Given the description of an element on the screen output the (x, y) to click on. 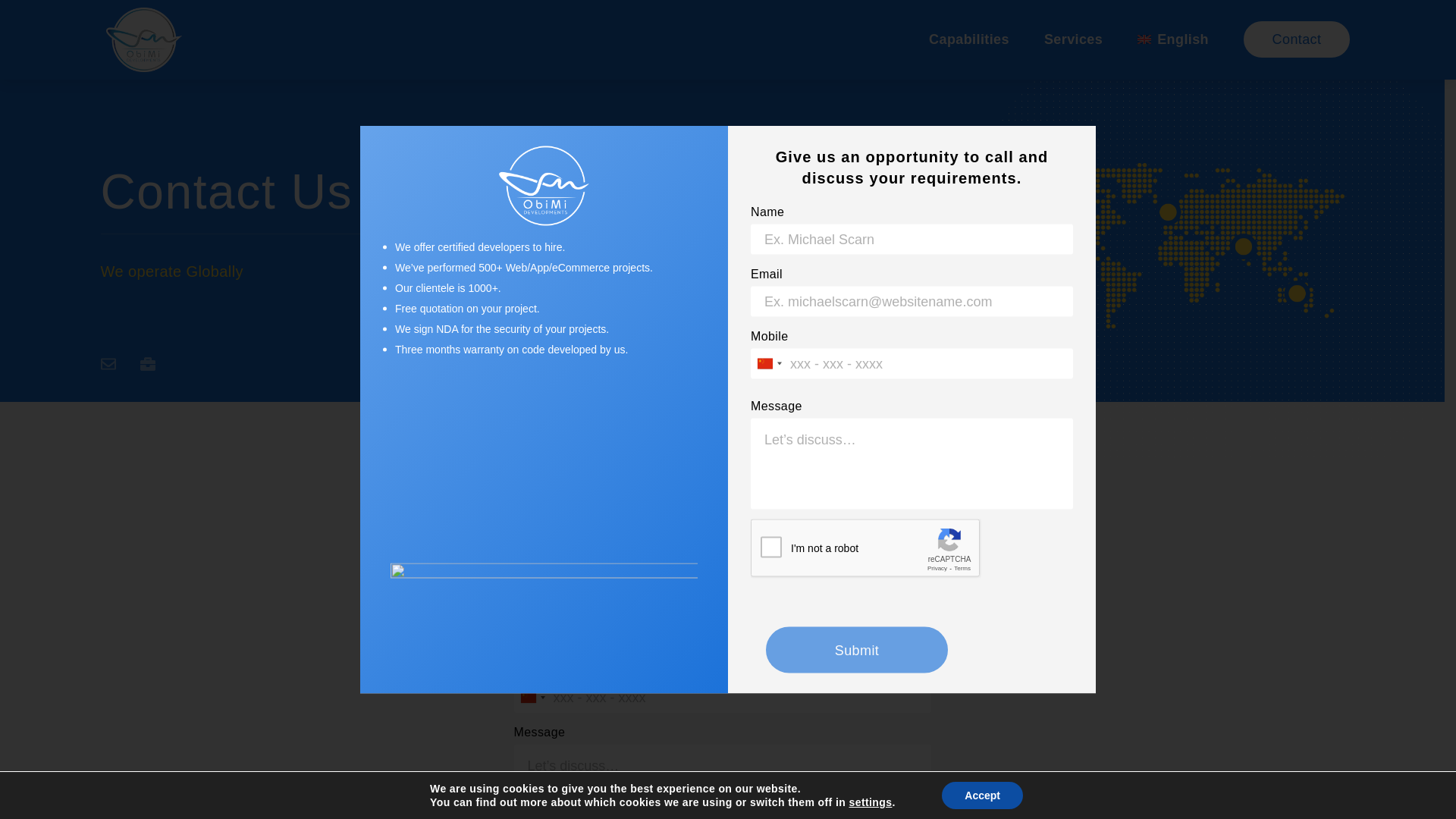
ObiMi (144, 39)
